Given the description of an element on the screen output the (x, y) to click on. 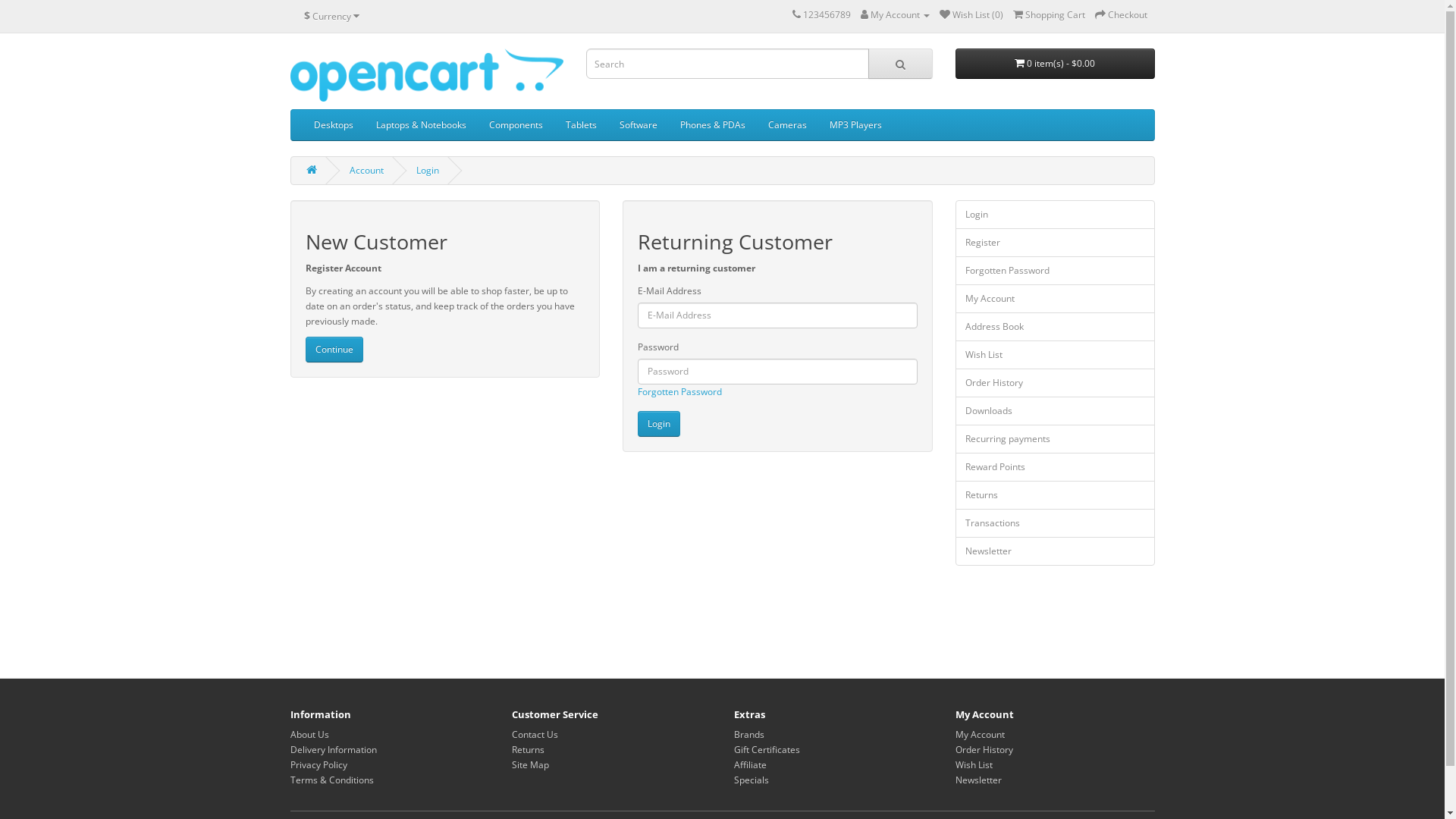
Forgotten Password Element type: text (679, 391)
Newsletter Element type: text (978, 779)
Privacy Policy Element type: text (317, 764)
Address Book Element type: text (1054, 326)
Tablets Element type: text (580, 124)
Software Element type: text (638, 124)
Newsletter Element type: text (1054, 550)
Account Element type: text (365, 169)
My Account Element type: text (979, 734)
Site Map Element type: text (530, 764)
Components Element type: text (515, 124)
Returns Element type: text (1054, 494)
Downloads Element type: text (1054, 410)
My Account Element type: text (893, 14)
$ Currency  Element type: text (331, 15)
My Account Element type: text (1054, 298)
Login Element type: text (1054, 214)
Specials Element type: text (751, 779)
Returns Element type: text (527, 749)
Shopping Cart Element type: text (1049, 14)
Wish List Element type: text (1054, 354)
Wish List Element type: text (973, 764)
Continue Element type: text (333, 349)
0 item(s) - $0.00 Element type: text (1054, 63)
Contact Us Element type: text (534, 734)
Gift Certificates Element type: text (767, 749)
Delivery Information Element type: text (332, 749)
Cameras Element type: text (787, 124)
Terms & Conditions Element type: text (331, 779)
Wish List (0) Element type: text (970, 14)
Recurring payments Element type: text (1054, 438)
Order History Element type: text (1054, 382)
Phones & PDAs Element type: text (712, 124)
Order History Element type: text (984, 749)
Brands Element type: text (749, 734)
Forgotten Password Element type: text (1054, 270)
Register Element type: text (1054, 242)
Transactions Element type: text (1054, 522)
MP3 Players Element type: text (854, 124)
Laptops & Notebooks Element type: text (420, 124)
Checkout Element type: text (1121, 14)
Affiliate Element type: text (750, 764)
Reward Points Element type: text (1054, 466)
Login Element type: text (426, 169)
Desktops Element type: text (332, 124)
About Us Element type: text (308, 734)
Login Element type: text (658, 423)
Your Store Element type: hover (425, 74)
